Given the description of an element on the screen output the (x, y) to click on. 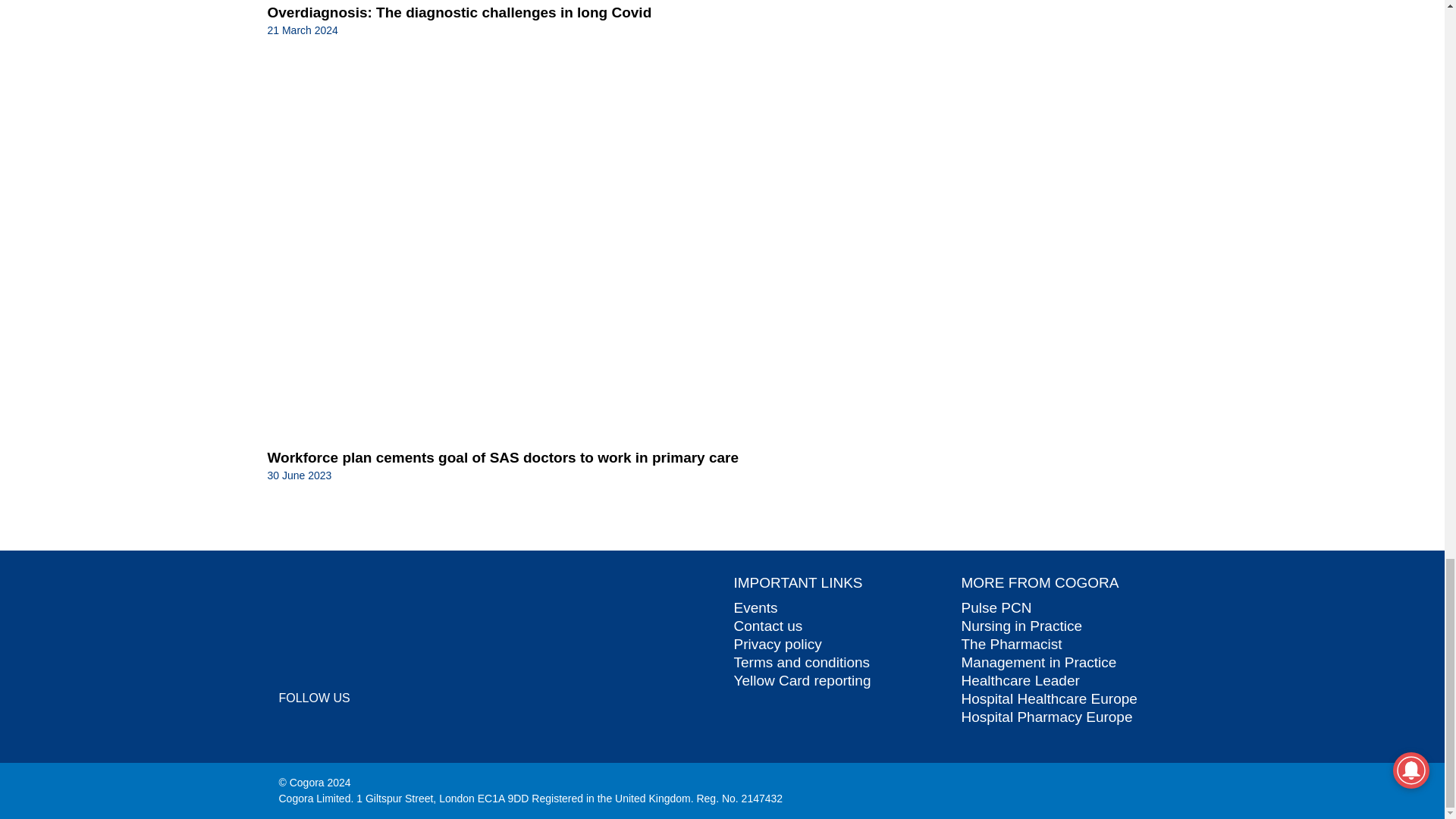
Privacy policy (777, 643)
Contact us (768, 625)
Events (755, 607)
